Given the description of an element on the screen output the (x, y) to click on. 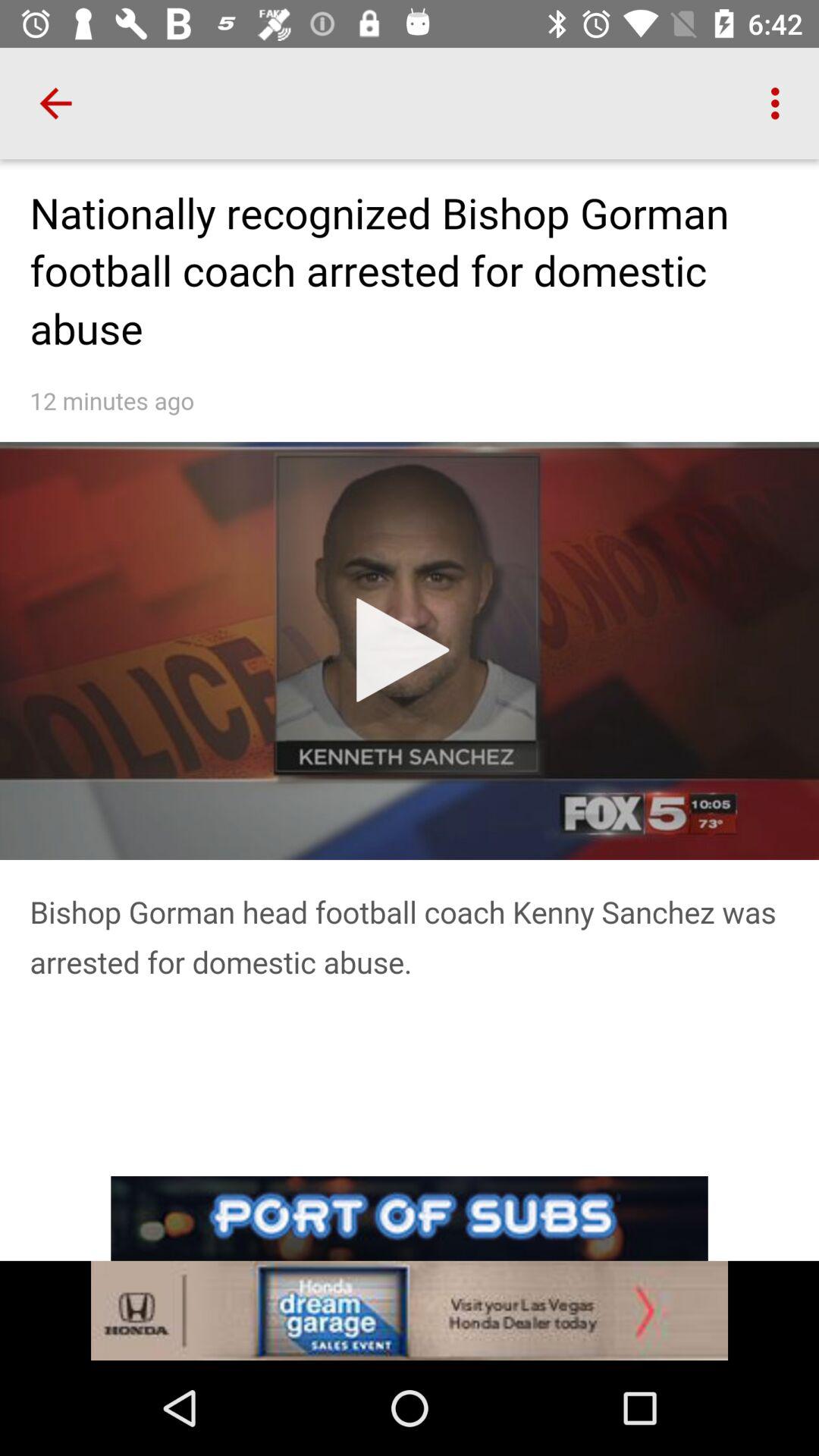
open advertisement (409, 1268)
